Given the description of an element on the screen output the (x, y) to click on. 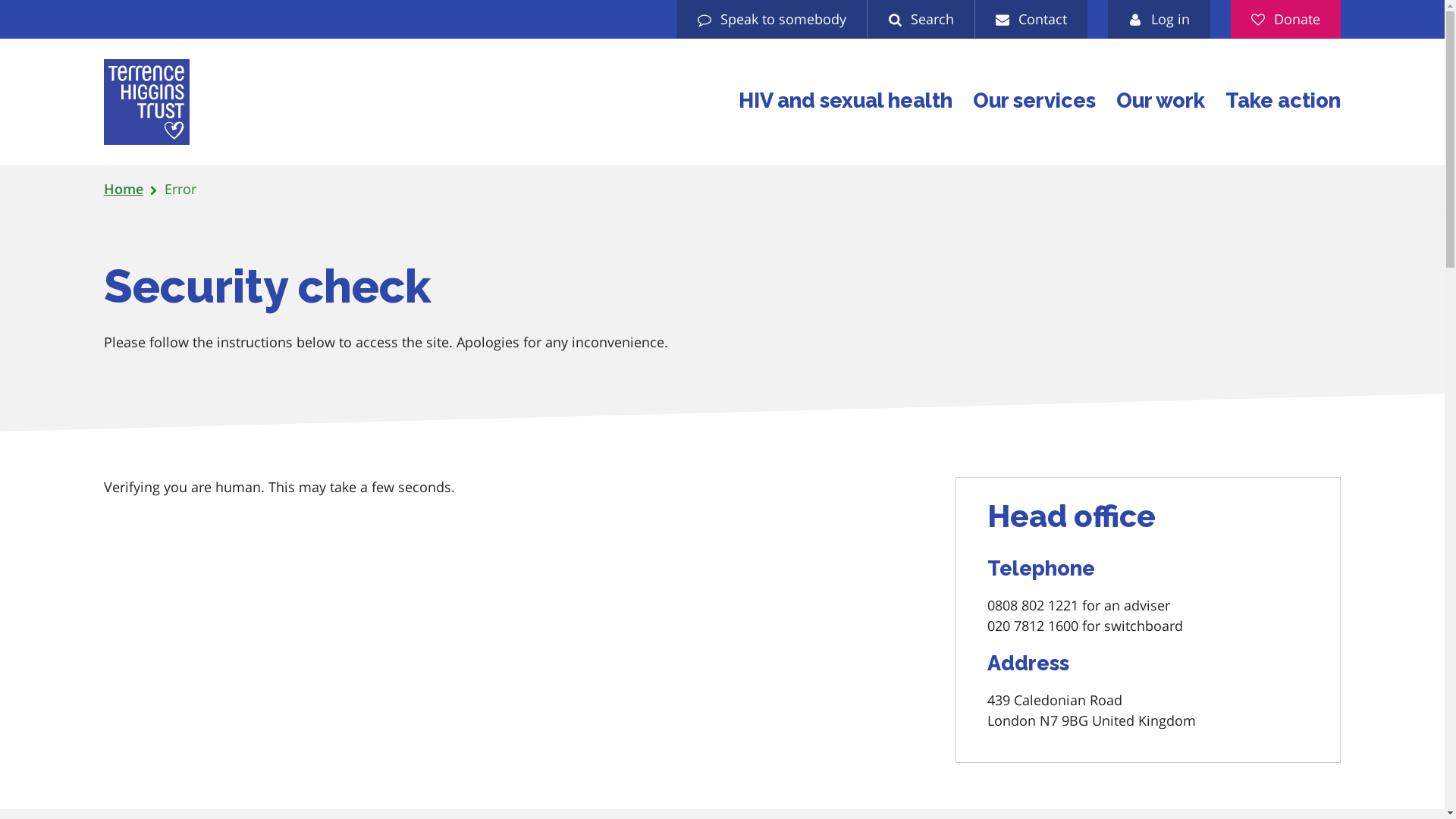
Take action (1282, 101)
Home (146, 101)
Speak to somebody (771, 19)
Log in (1158, 19)
Search (920, 19)
Contact (1031, 19)
Donate (1285, 19)
Our services (1034, 101)
Our work (1160, 101)
Home (122, 189)
HIV and sexual health (845, 101)
